Given the description of an element on the screen output the (x, y) to click on. 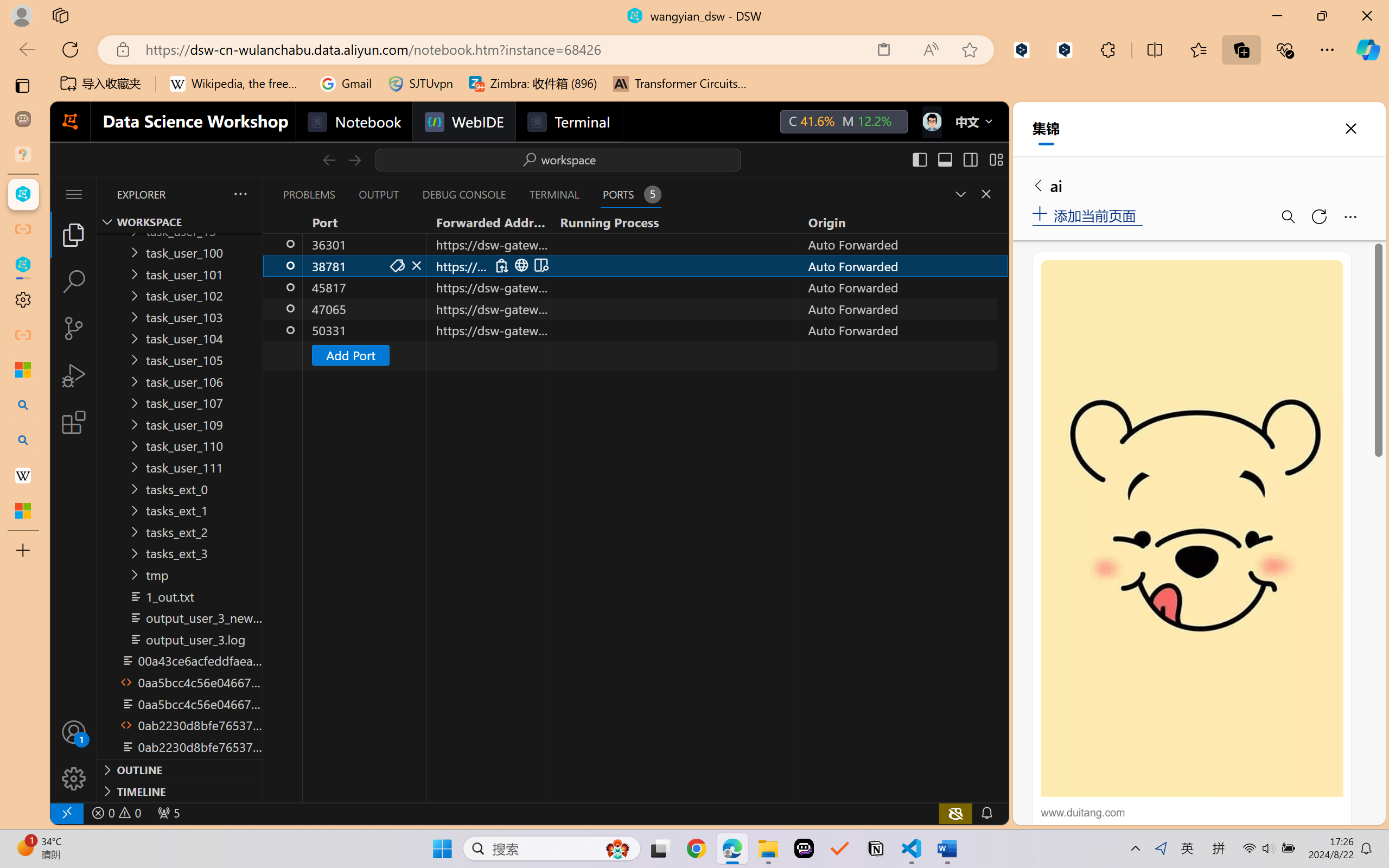
Class: actions-container (520, 265)
Terminal (568, 121)
Terminal (Ctrl+`) (553, 194)
Notifications (986, 812)
Manage (73, 778)
No Problems (115, 812)
